Given the description of an element on the screen output the (x, y) to click on. 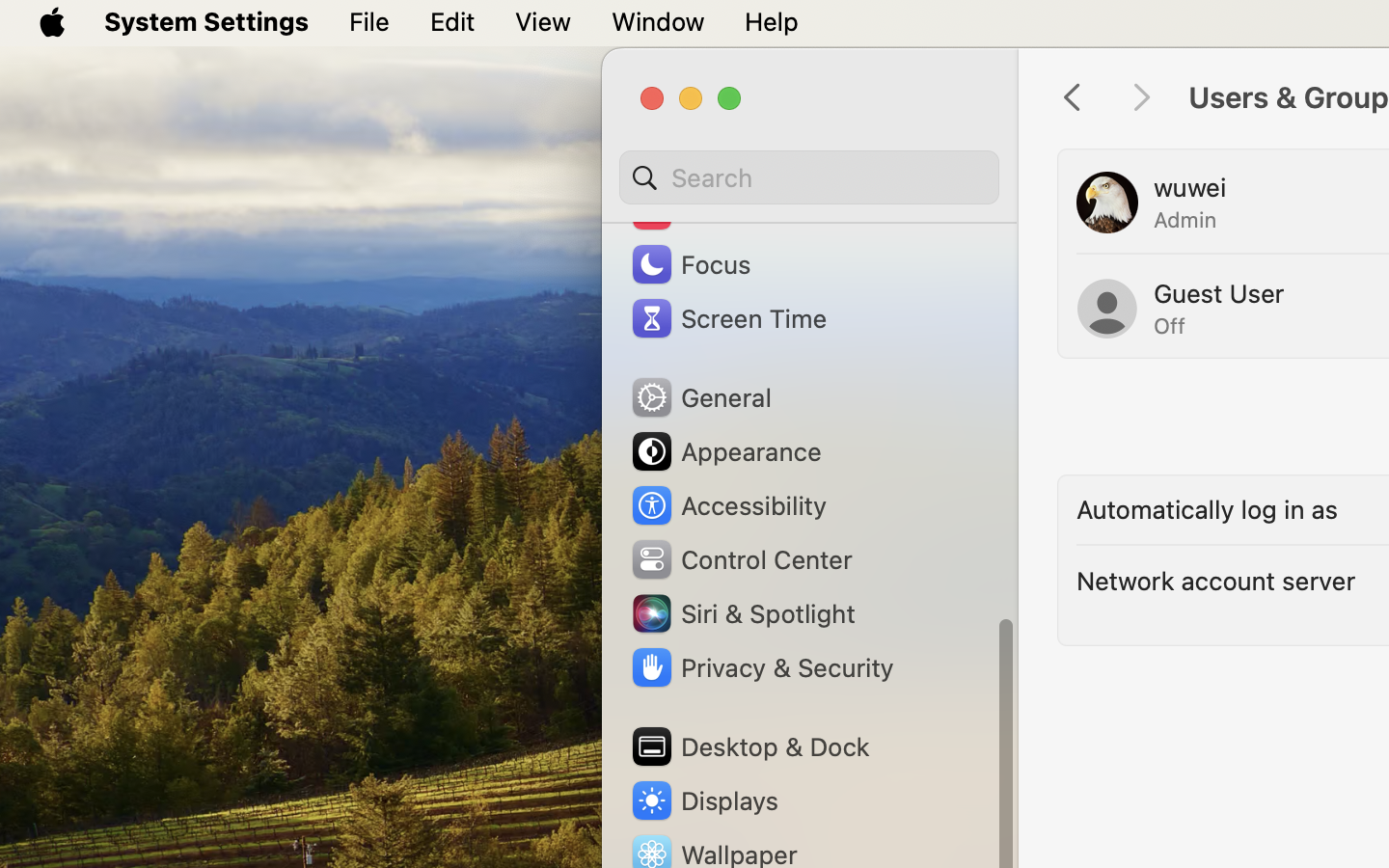
Off Element type: AXStaticText (1169, 325)
Appearance Element type: AXStaticText (724, 451)
Automatically log in as Element type: AXStaticText (1207, 508)
Screen Time Element type: AXStaticText (727, 318)
Privacy & Security Element type: AXStaticText (760, 667)
